Given the description of an element on the screen output the (x, y) to click on. 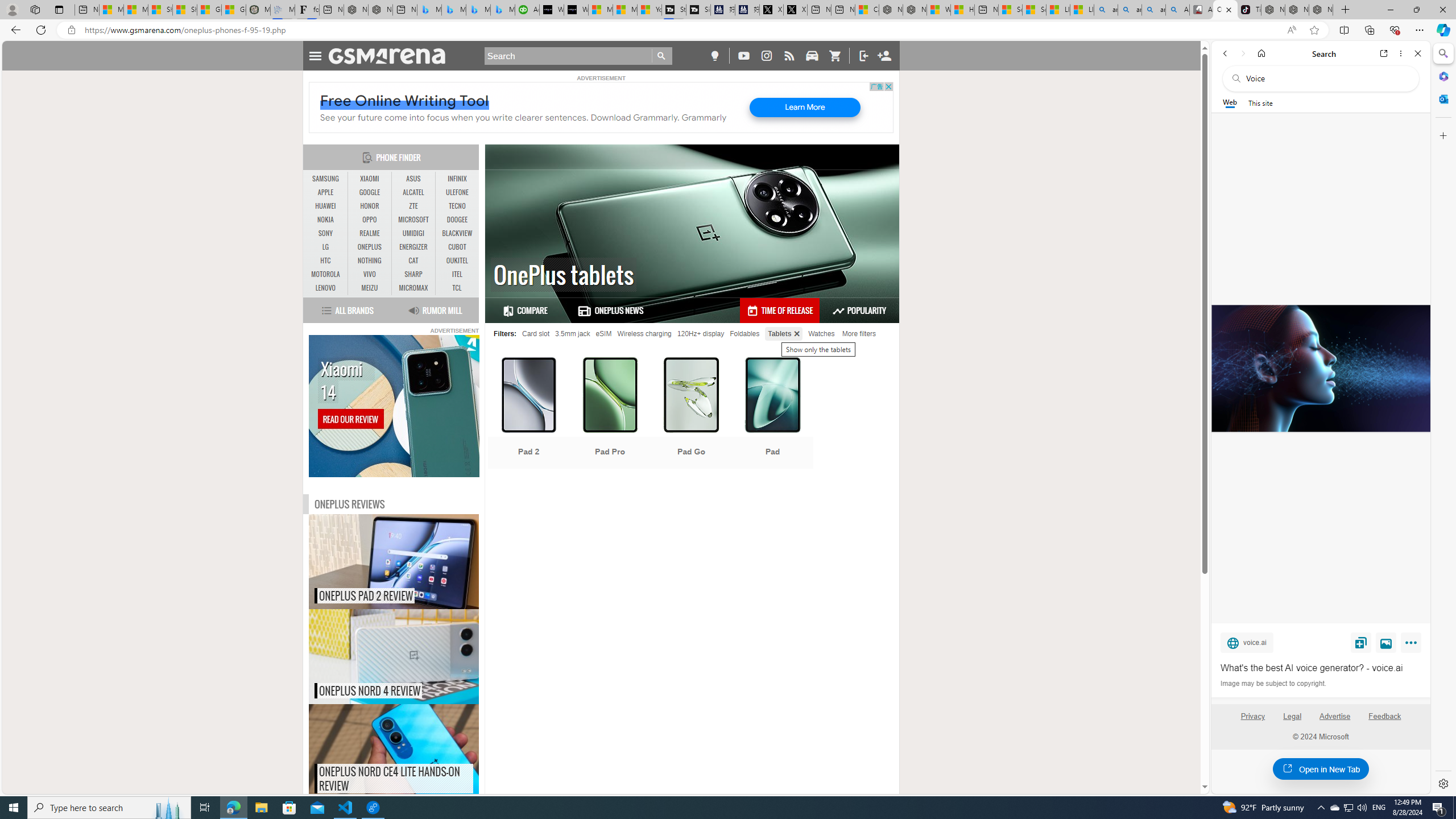
OnePlus Pad 2 review (417, 561)
GOOGLE (369, 192)
Save (1361, 642)
TCL (457, 287)
ULEFONE (457, 192)
